Given the description of an element on the screen output the (x, y) to click on. 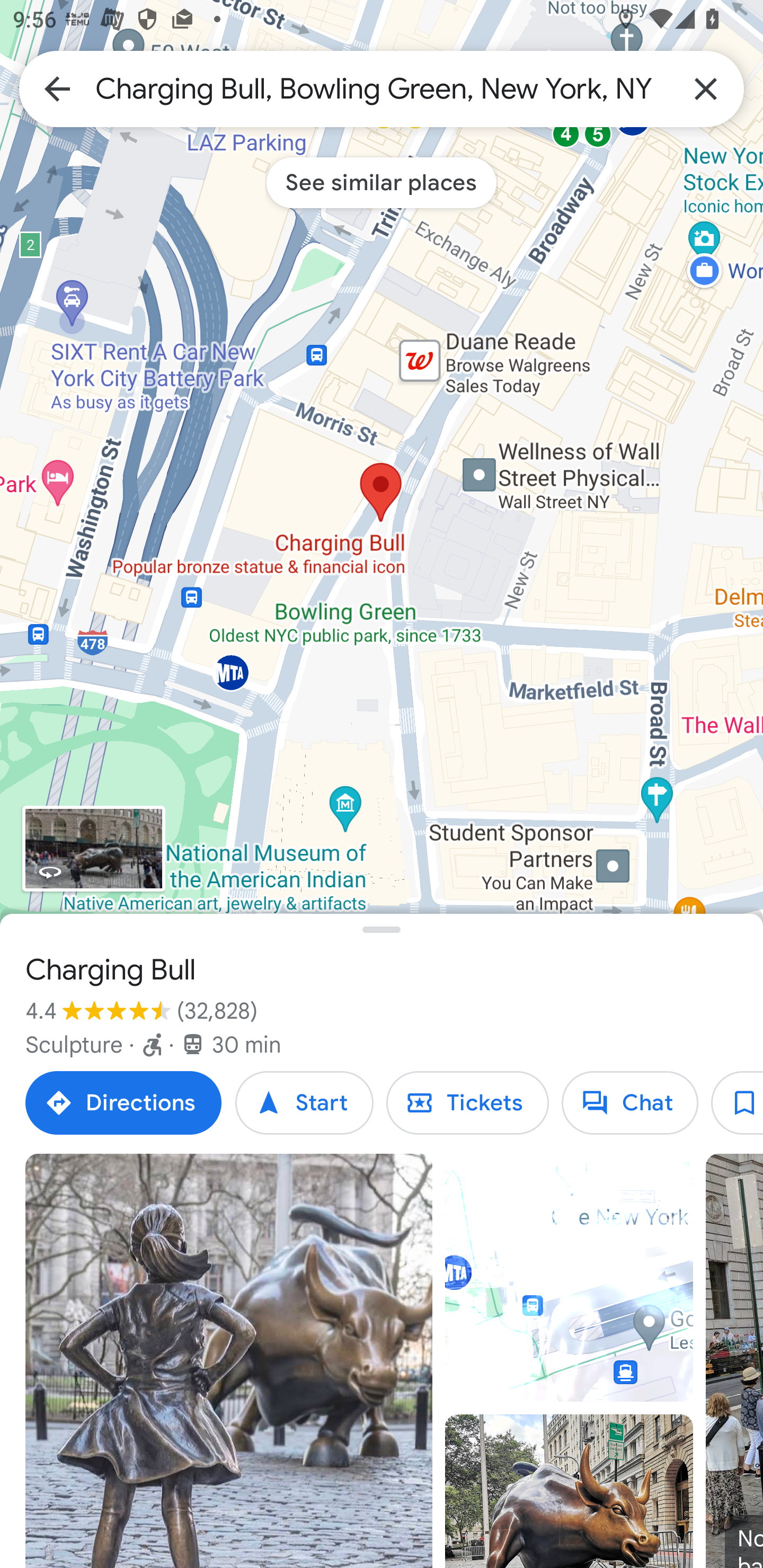
Back (57, 88)
Charging Bull, Bowling Green, New York, NY (381, 88)
Clear (705, 88)
See similar places (381, 182)
View Street view imagery for Charging Bull (93, 848)
Start Start Start (304, 1102)
Tickets (467, 1102)
Chat (629, 1102)
Photo (228, 1361)
Video (568, 1277)
Photo (568, 1491)
